Given the description of an element on the screen output the (x, y) to click on. 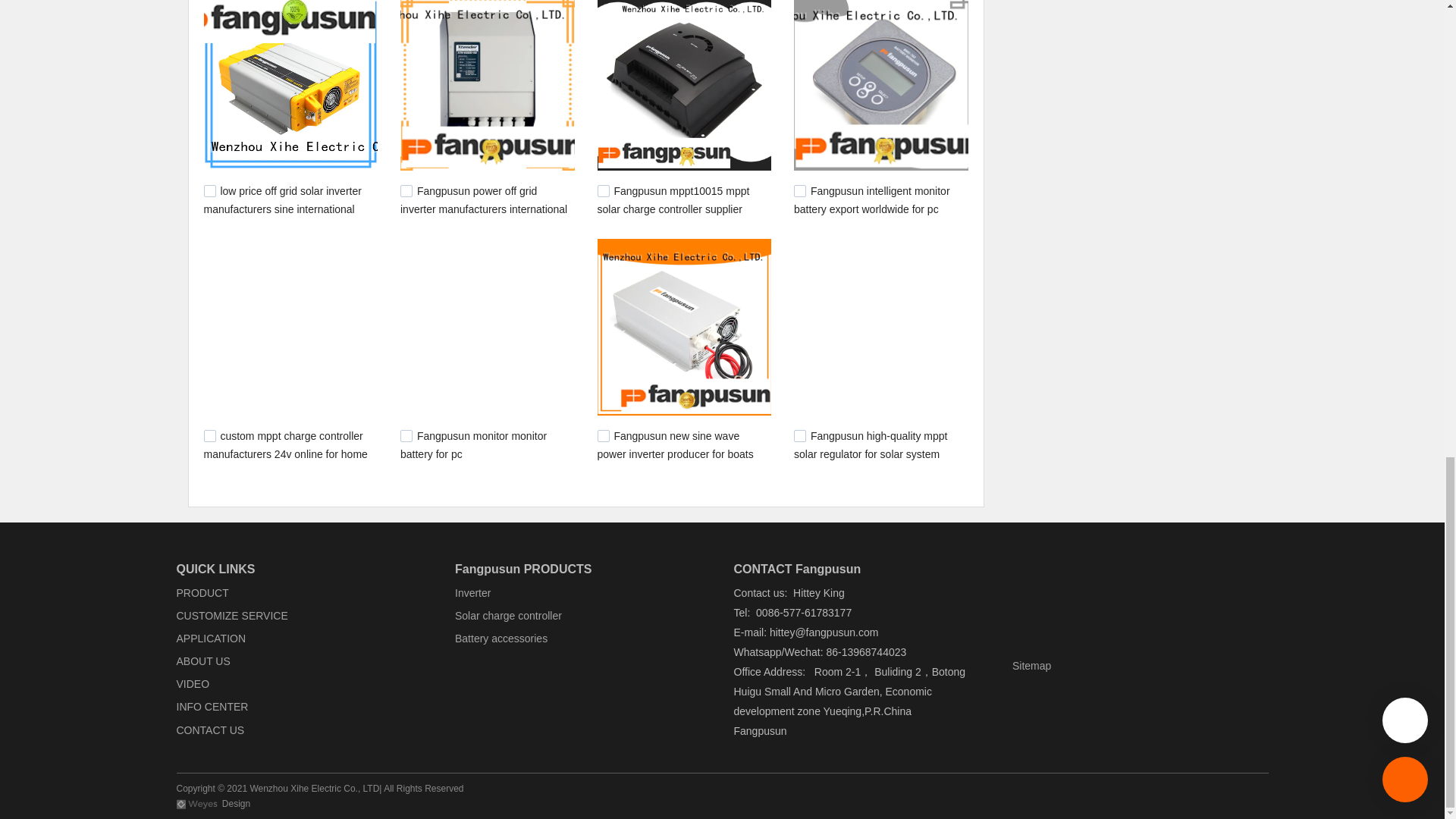
968 (799, 435)
Fangpusun new sine wave power inverter producer for boats (675, 444)
1060 (209, 435)
1006 (406, 435)
1102 (406, 191)
1120 (209, 191)
